Given the description of an element on the screen output the (x, y) to click on. 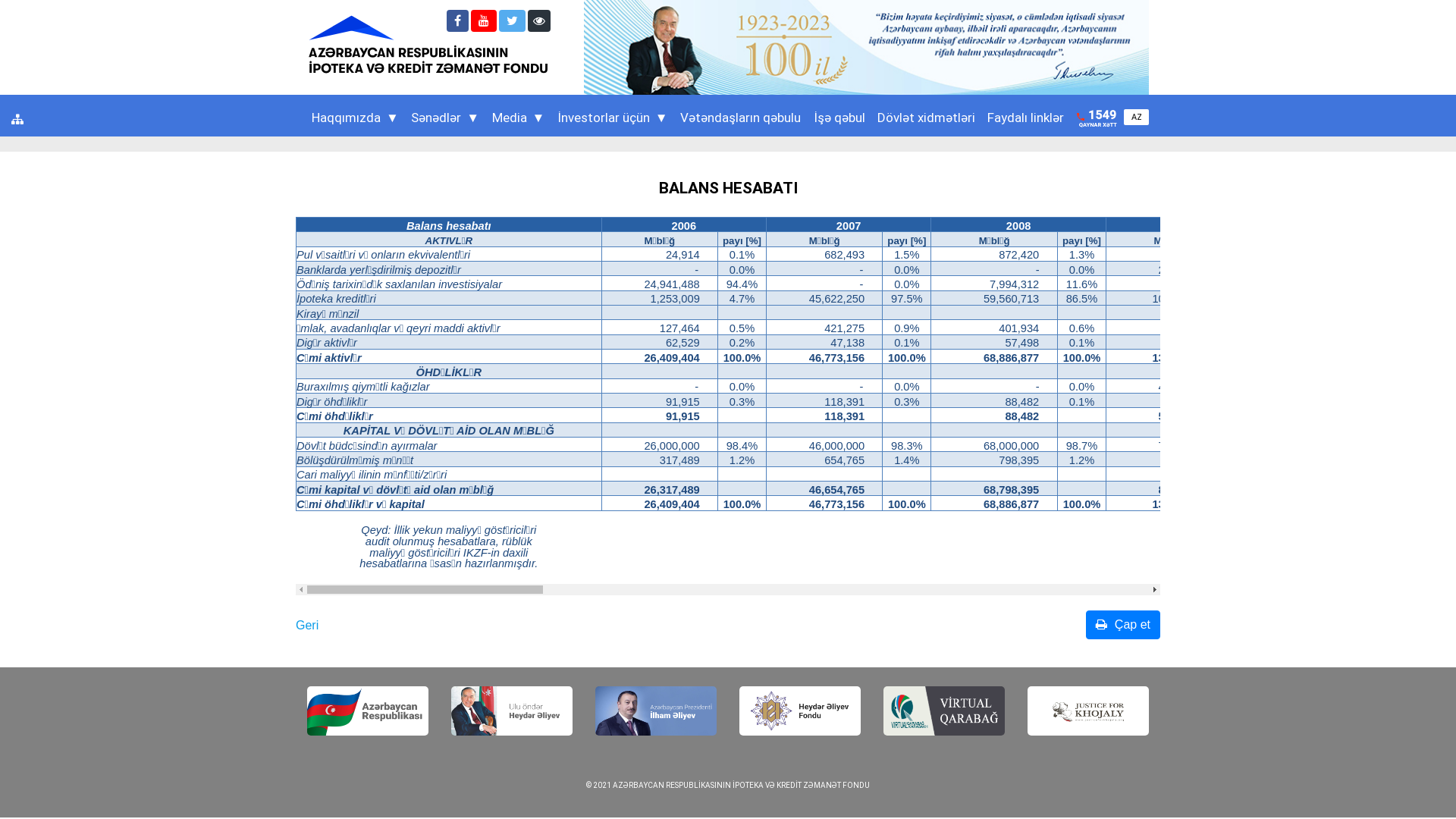
Geri Element type: text (306, 625)
